Given the description of an element on the screen output the (x, y) to click on. 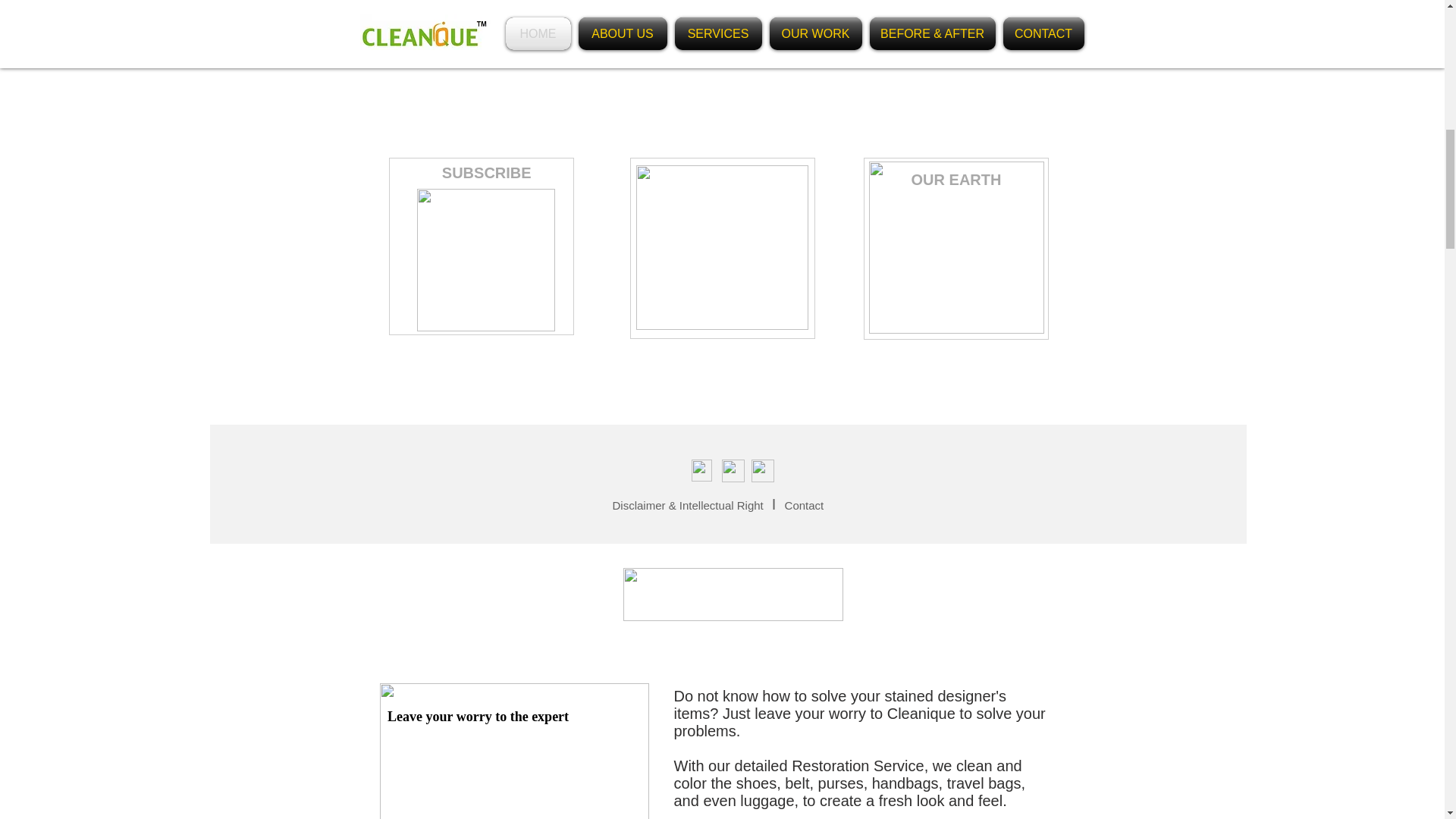
    JOIN MEMBER (713, 179)
Contact  (805, 504)
      SUBSCRIBE  (475, 172)
